Given the description of an element on the screen output the (x, y) to click on. 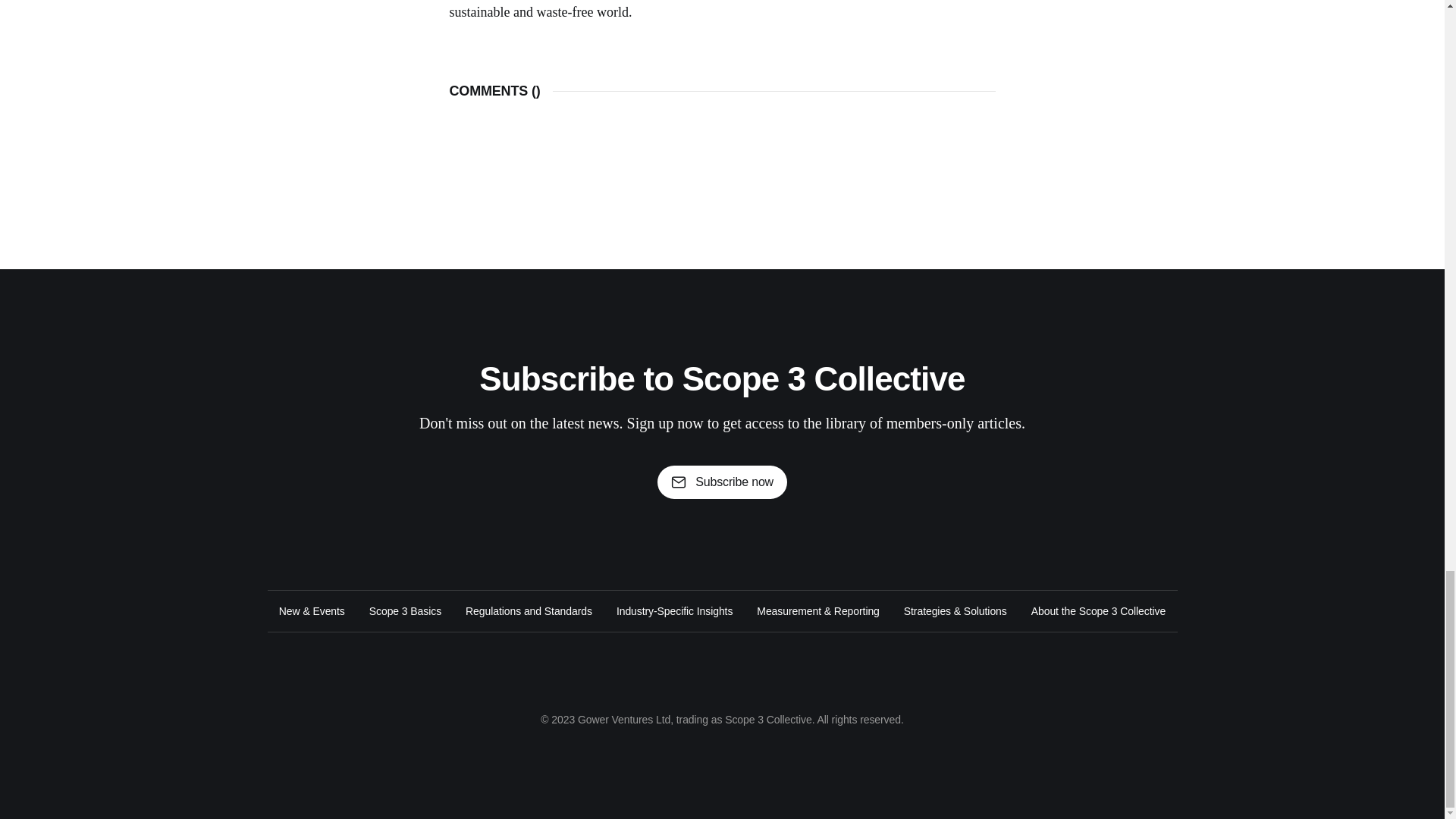
Subscribe now (722, 482)
About the Scope 3 Collective (1098, 610)
Industry-Specific Insights (673, 610)
Regulations and Standards (528, 610)
Scope 3 Basics (405, 610)
